Given the description of an element on the screen output the (x, y) to click on. 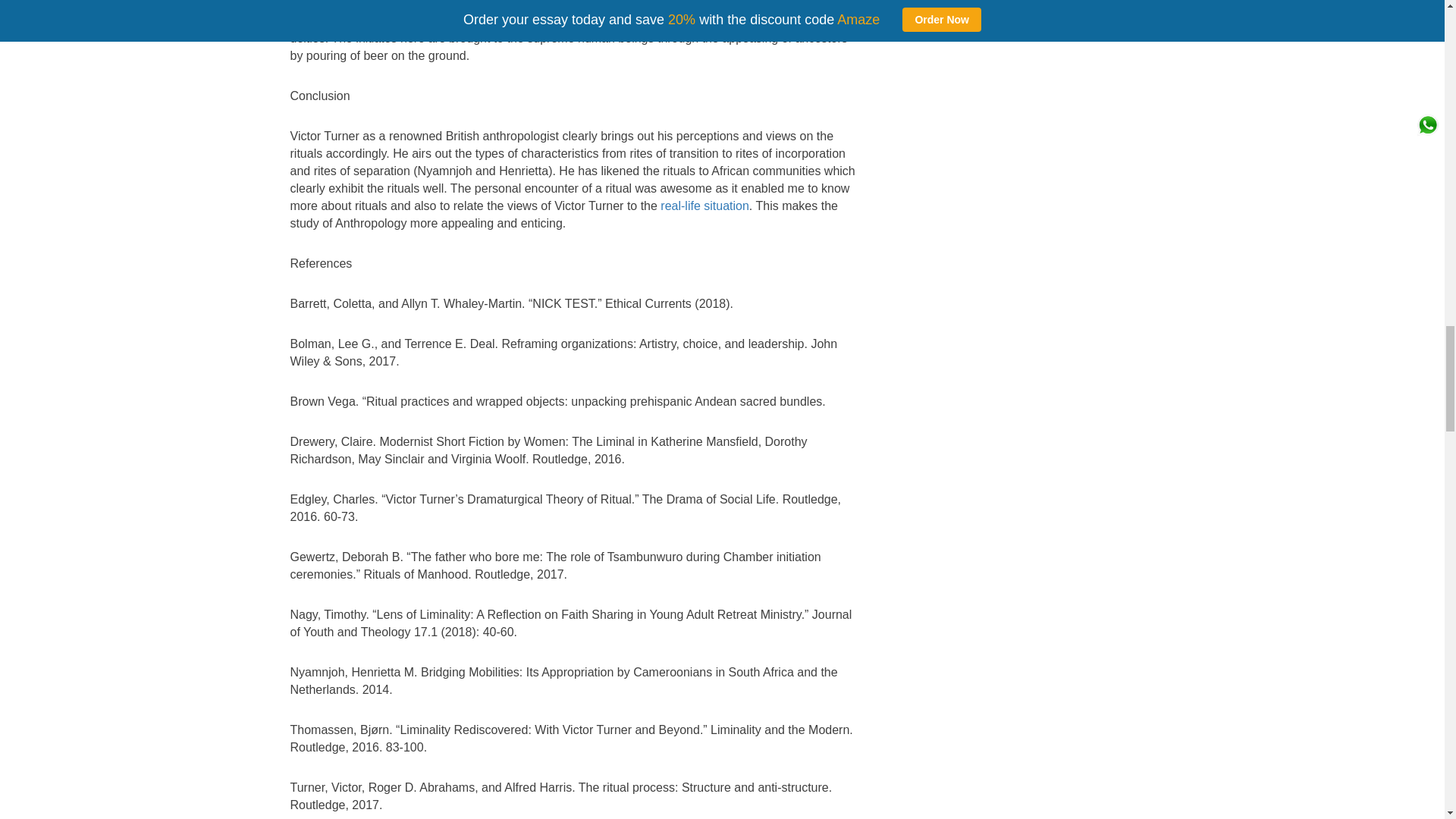
real-life situation (705, 205)
